Given the description of an element on the screen output the (x, y) to click on. 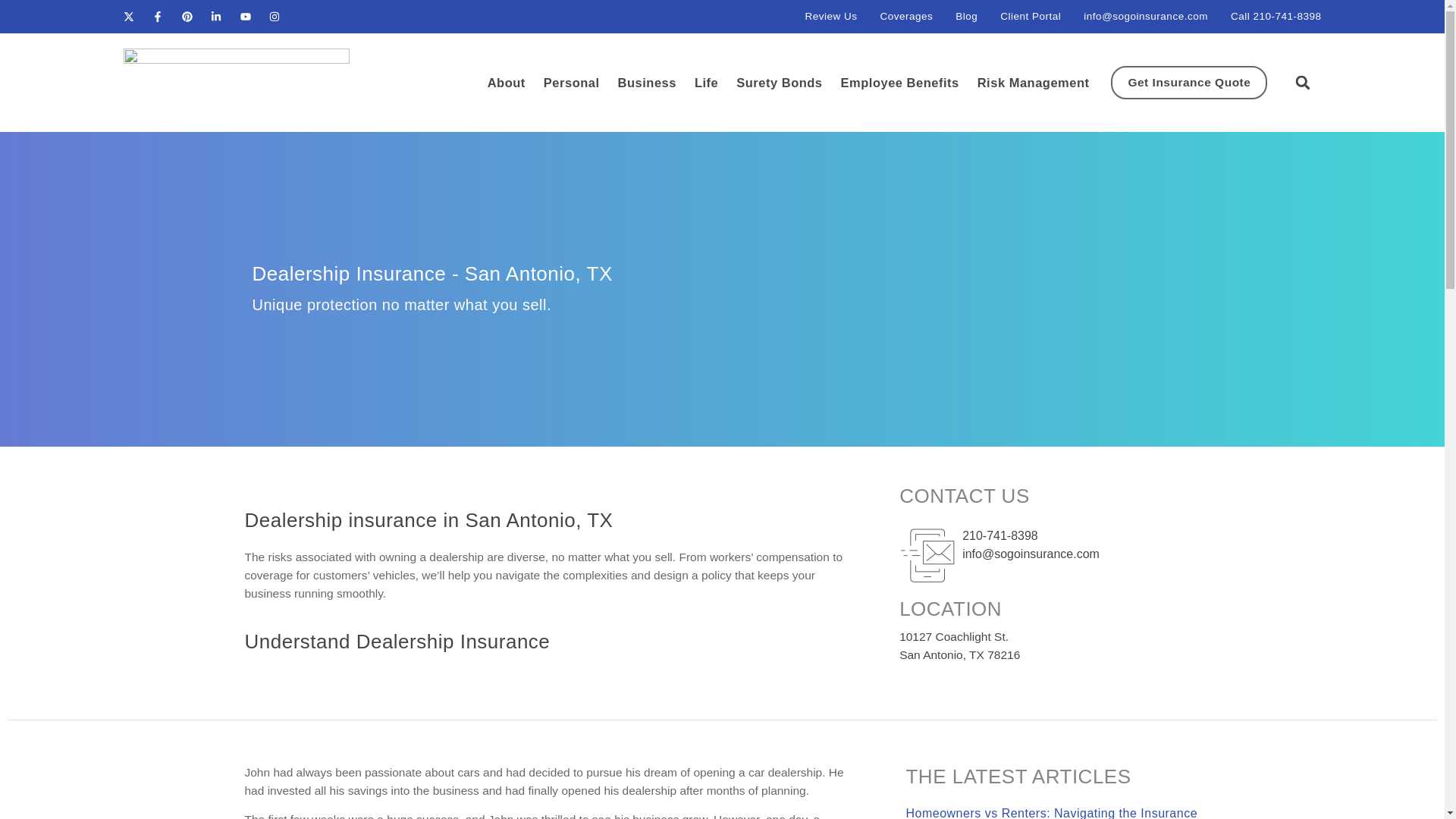
About (506, 82)
Surety Bonds (779, 82)
Employee Benefits (900, 82)
Business (646, 82)
Blog (965, 16)
Review Us (831, 16)
Personal (571, 82)
Coverages (906, 16)
Client Portal (1030, 16)
Life (706, 82)
